Given the description of an element on the screen output the (x, y) to click on. 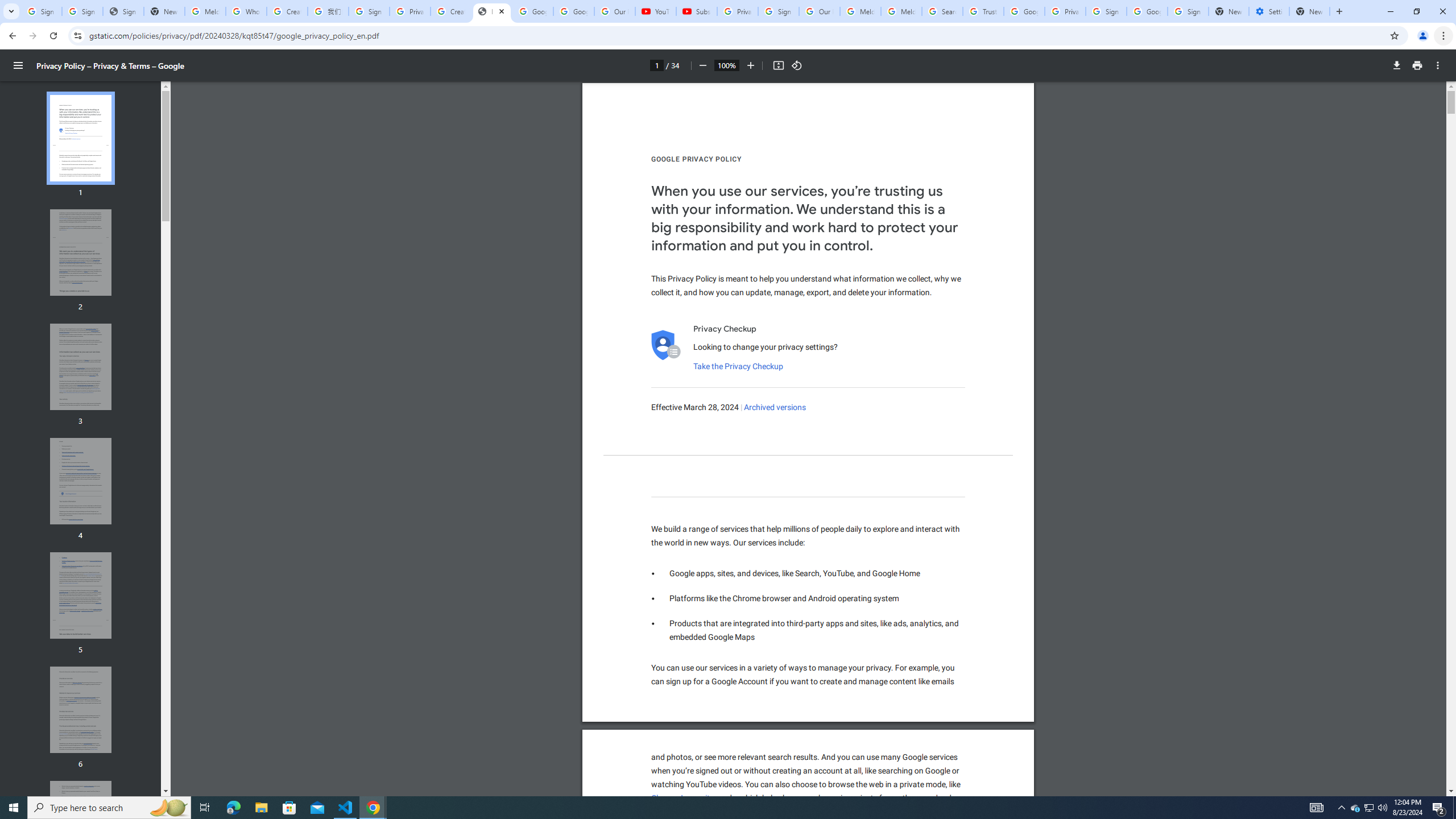
Take the Privacy Checkup (738, 366)
